Given the description of an element on the screen output the (x, y) to click on. 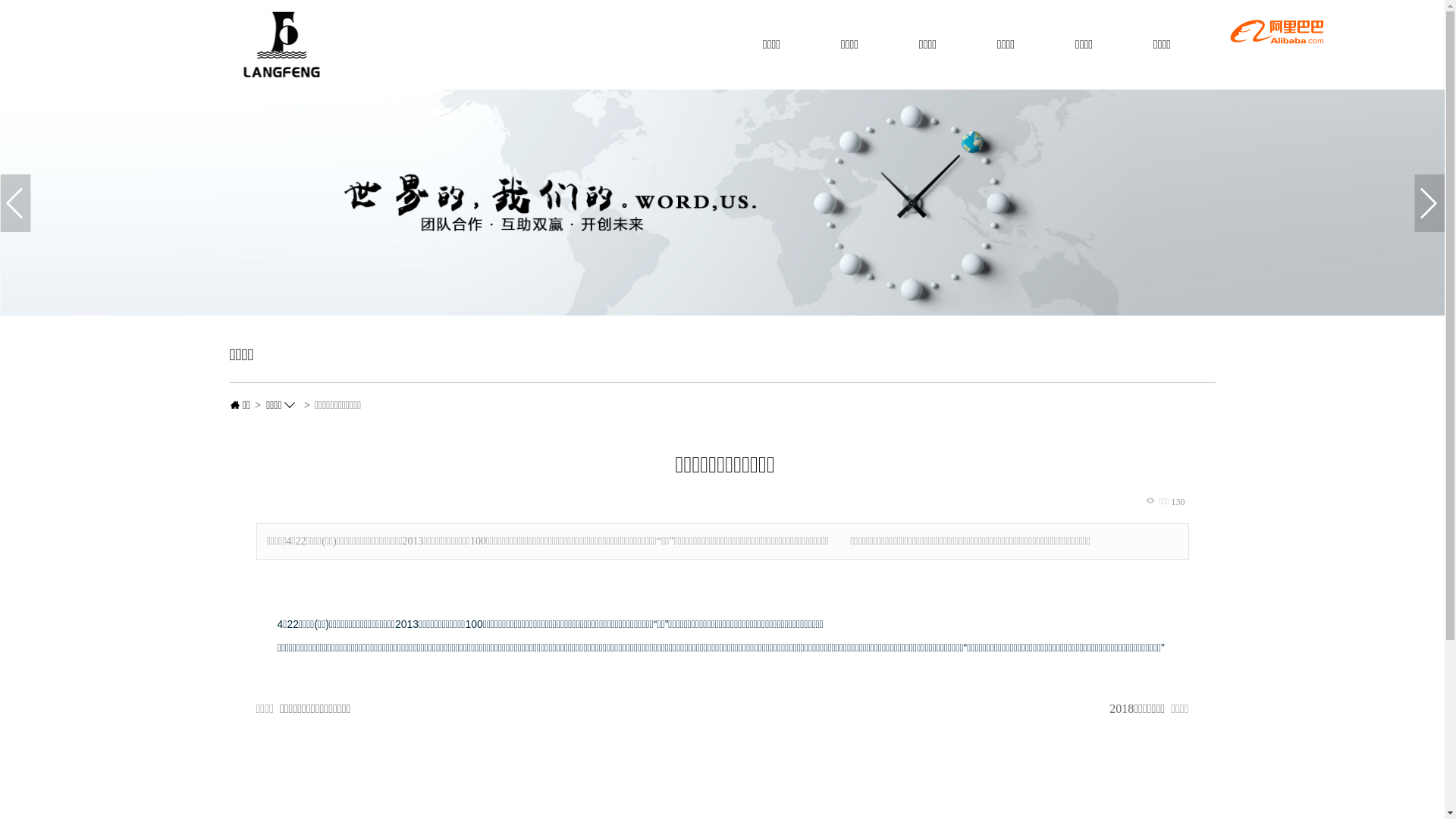
1 Element type: hover (722, 202)
